Given the description of an element on the screen output the (x, y) to click on. 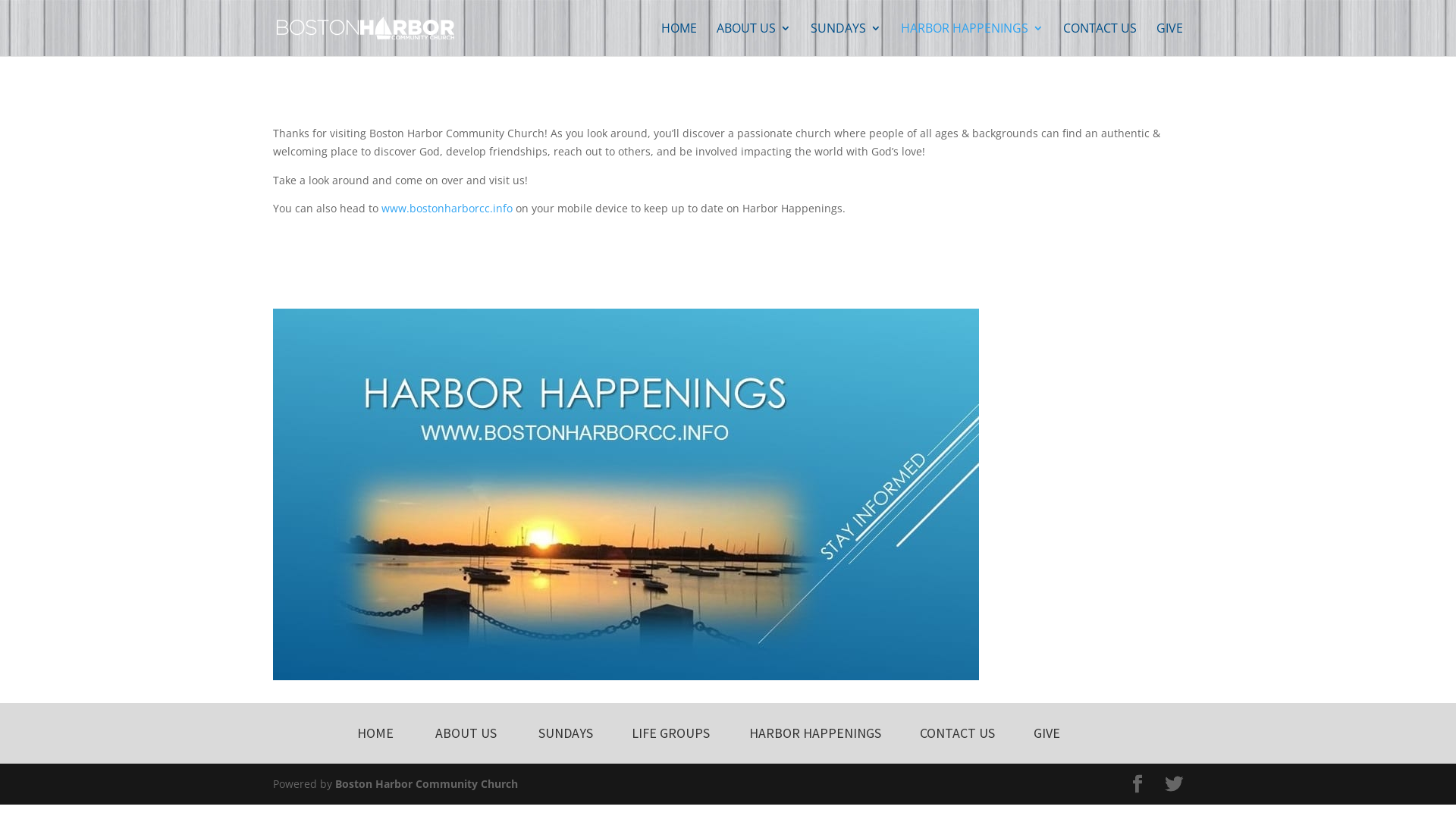
ABOUT US Element type: text (465, 732)
HARBOR HAPPENINGS Element type: text (971, 39)
CONTACT US Element type: text (956, 732)
ABOUT US Element type: text (753, 39)
HARBOR HAPPENINGS Element type: text (815, 732)
CONTACT US Element type: text (1099, 39)
LIFE GROUPS Element type: text (670, 732)
www.bostonharborcc.info Element type: text (446, 207)
SUNDAYS Element type: text (845, 39)
GIVE Element type: text (1169, 39)
GIVE Element type: text (1046, 732)
HOME Element type: text (375, 732)
HOME Element type: text (678, 39)
SUNDAYS Element type: text (565, 732)
Boston Harbor Community Church Element type: text (426, 783)
